Given the description of an element on the screen output the (x, y) to click on. 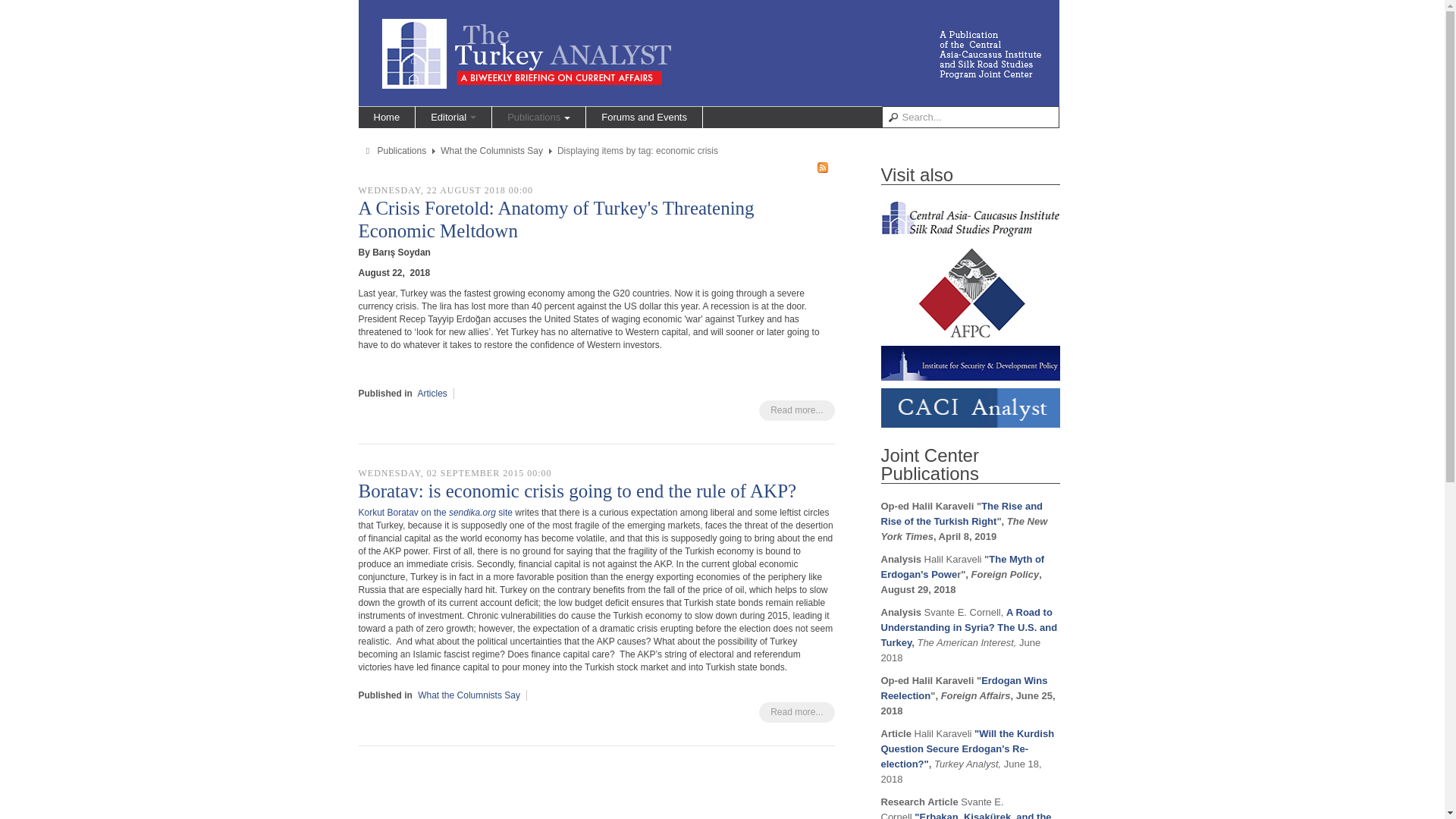
Editorial (453, 117)
Read more... (796, 711)
A Road to Understanding in Syria? The U.S. and Turkey (969, 627)
Publications (538, 117)
Read more... (796, 410)
The Myth of Erdogan's Powe (962, 566)
"Will the Kurdish Question Secure Erdogan's Re-election?" (967, 748)
Boratav: is economic crisis going to end the rule of AKP? (577, 490)
Korkut Boratav on the sendika.org site (435, 511)
The Rise and Rise of the Turkish Right (961, 513)
Erdogan Wins Reelection (964, 687)
Subscribe to this RSS feed (821, 167)
What the Columnists Say (468, 695)
Forums and Events (643, 117)
Publications (401, 150)
